Given the description of an element on the screen output the (x, y) to click on. 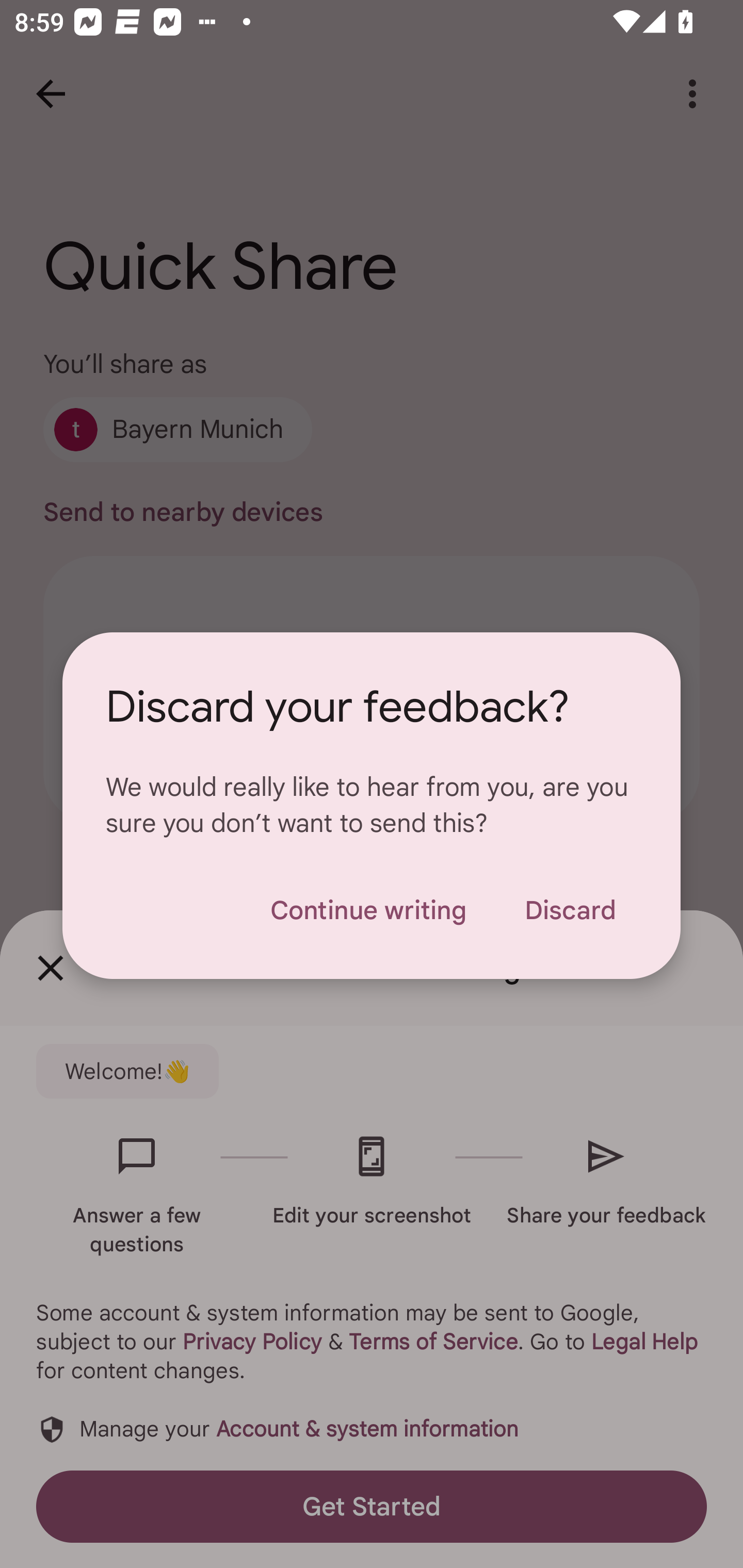
Continue writing (368, 910)
Discard (569, 910)
